Given the description of an element on the screen output the (x, y) to click on. 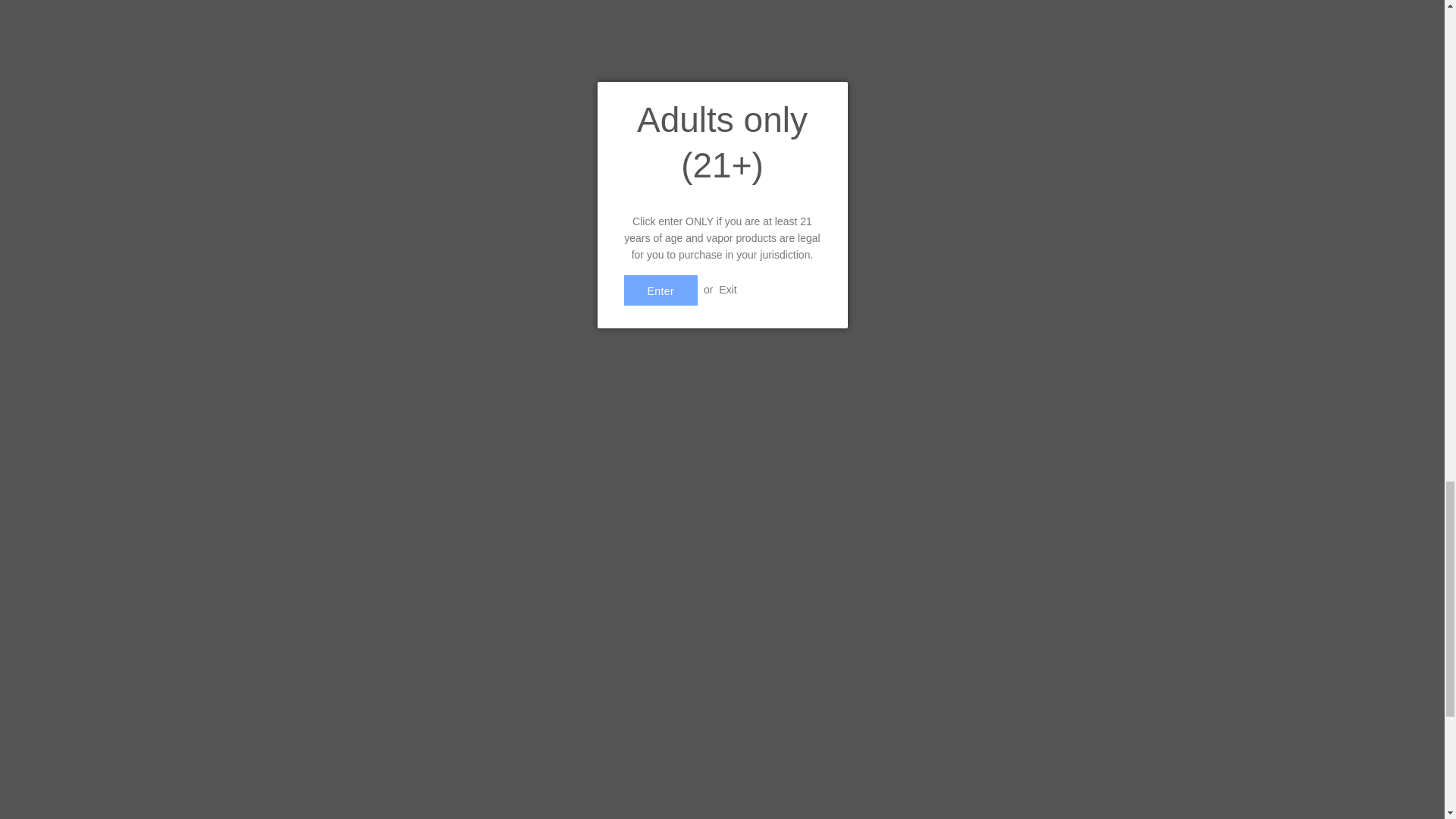
Show articles tagged Voopoo Drag (660, 110)
Show articles tagged Box Mod (467, 110)
Show articles tagged Vaping (604, 110)
Show articles tagged Vape Dojo Bel Air (538, 110)
